Given the description of an element on the screen output the (x, y) to click on. 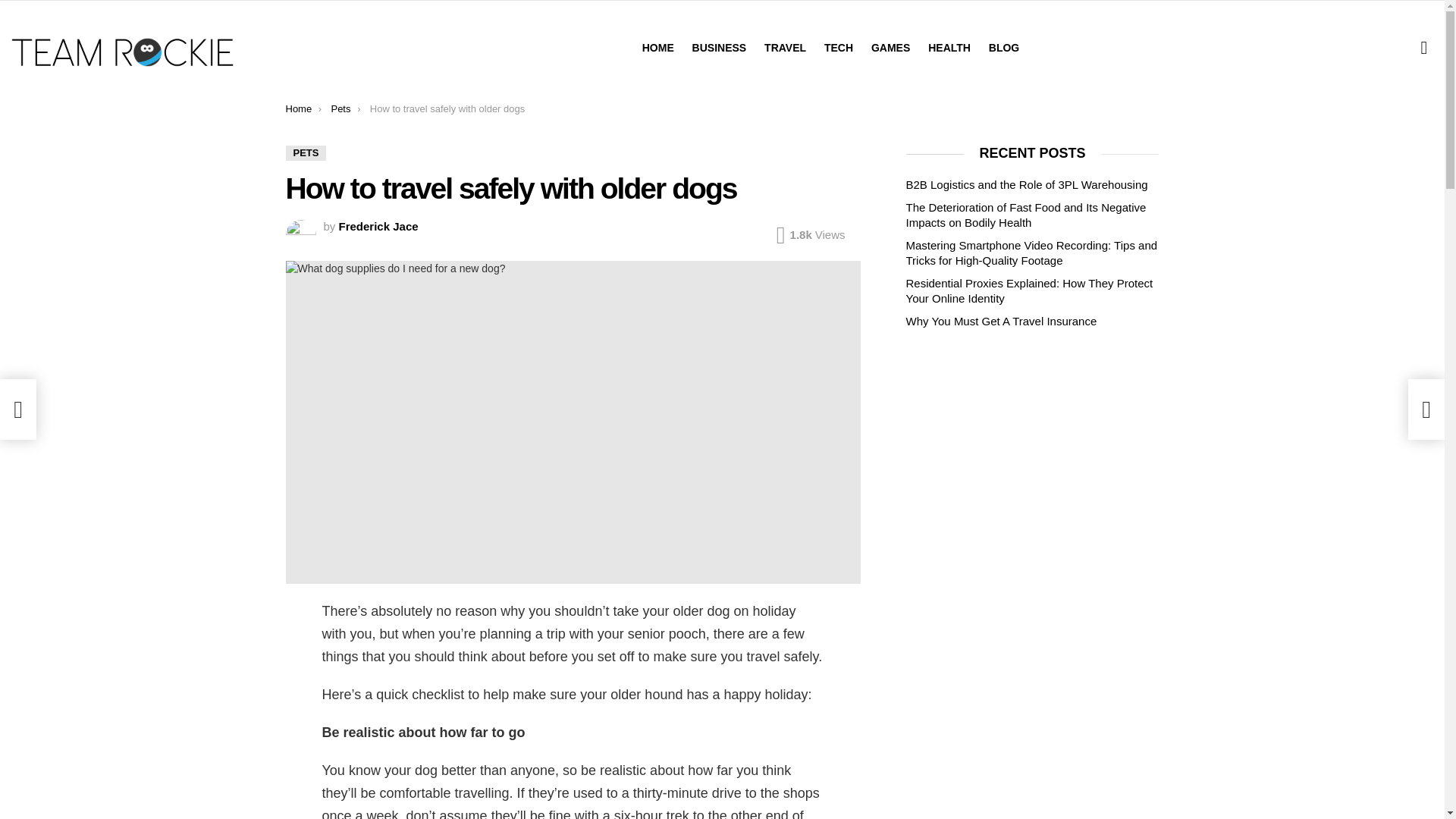
TRAVEL (785, 47)
Home (298, 108)
Frederick Jace (379, 226)
HEALTH (949, 47)
Posts by Frederick Jace (379, 226)
BUSINESS (719, 47)
PETS (305, 152)
Pets (340, 108)
BLOG (1003, 47)
TECH (838, 47)
HOME (657, 47)
GAMES (890, 47)
